Given the description of an element on the screen output the (x, y) to click on. 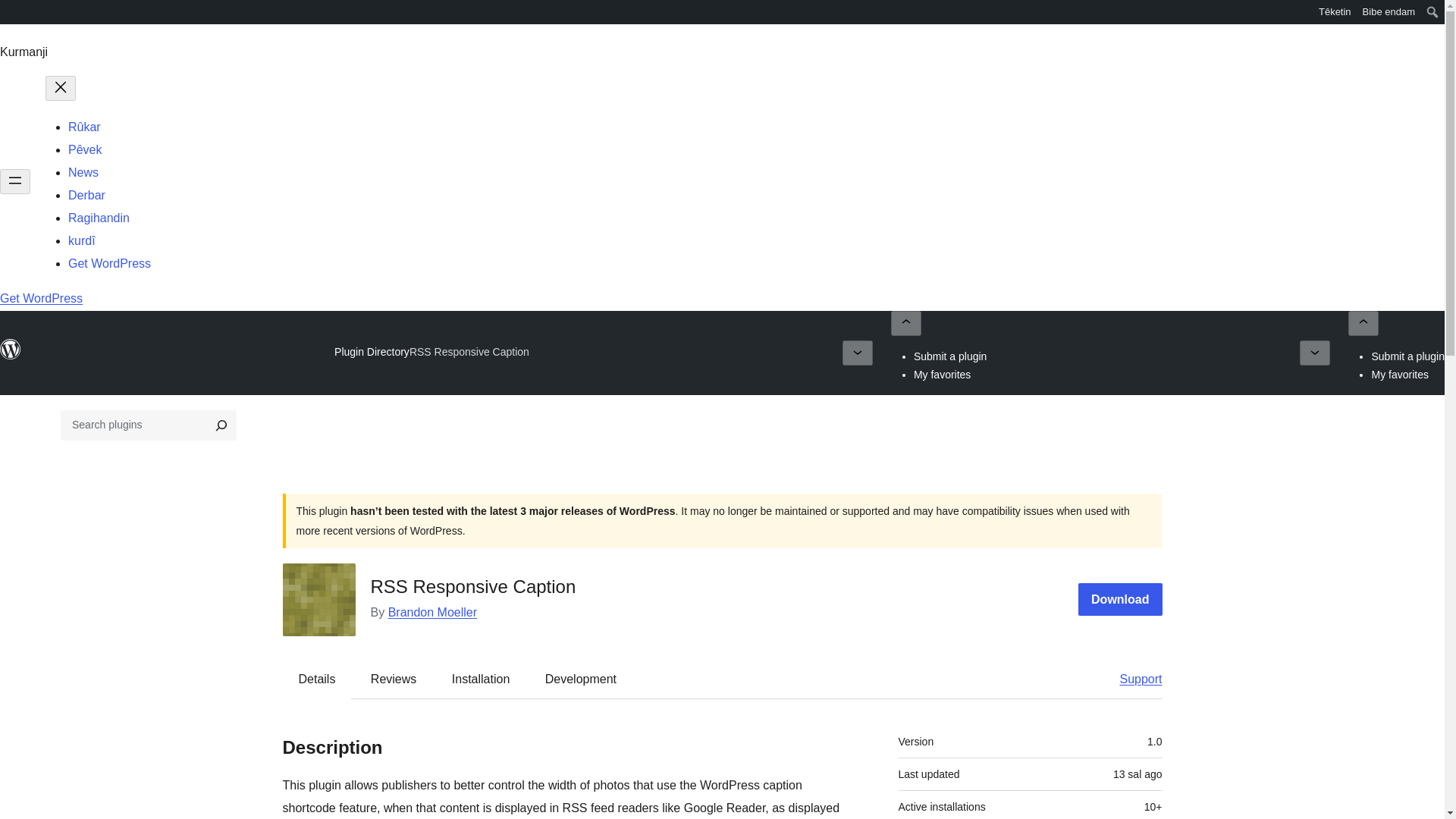
Get WordPress (41, 297)
WordPress.org (10, 349)
Brandon Moeller (432, 612)
Details (316, 678)
Development (580, 678)
Derbar (86, 195)
WordPress.org (10, 16)
My favorites (942, 374)
RSS Responsive Caption (469, 352)
Support (1132, 678)
My favorites (1399, 374)
WordPress.org (10, 356)
Submit a plugin (950, 356)
News (83, 172)
Ragihandin (98, 217)
